Given the description of an element on the screen output the (x, y) to click on. 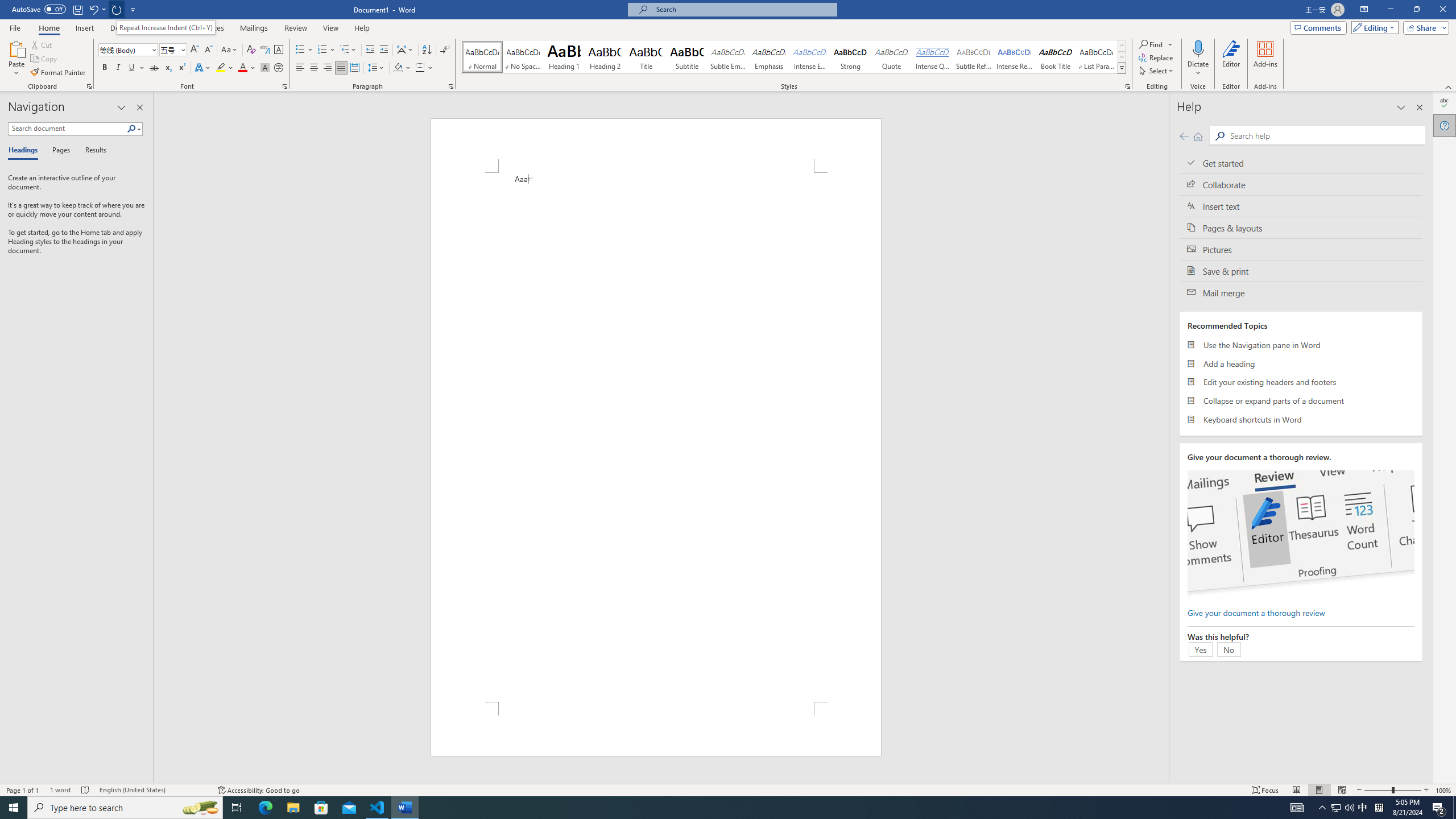
Intense Emphasis (809, 56)
Pictures (1300, 249)
AutomationID: QuickStylesGallery (794, 56)
Strong (849, 56)
Subtitle (686, 56)
